Given the description of an element on the screen output the (x, y) to click on. 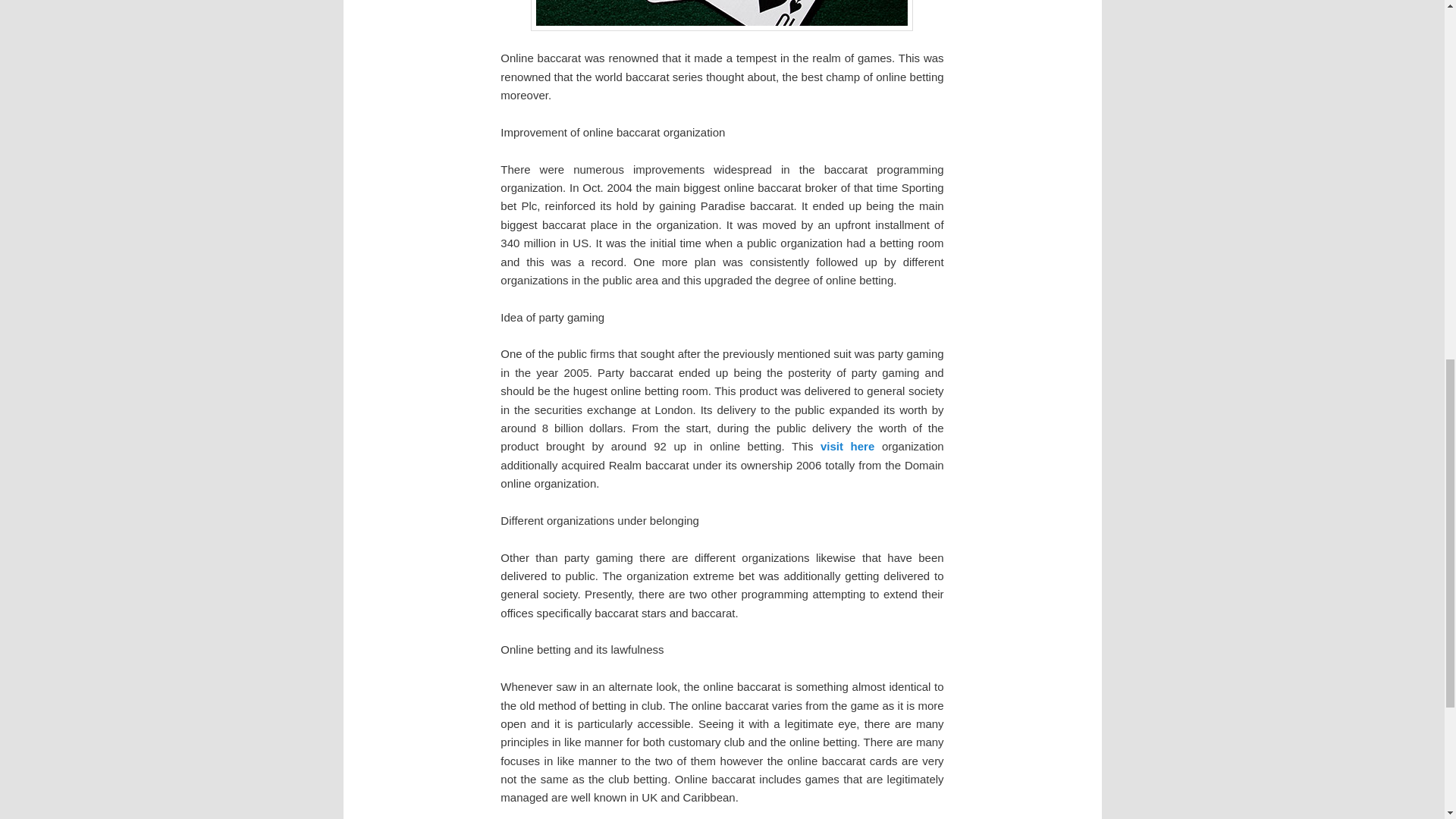
visit here (848, 445)
